Given the description of an element on the screen output the (x, y) to click on. 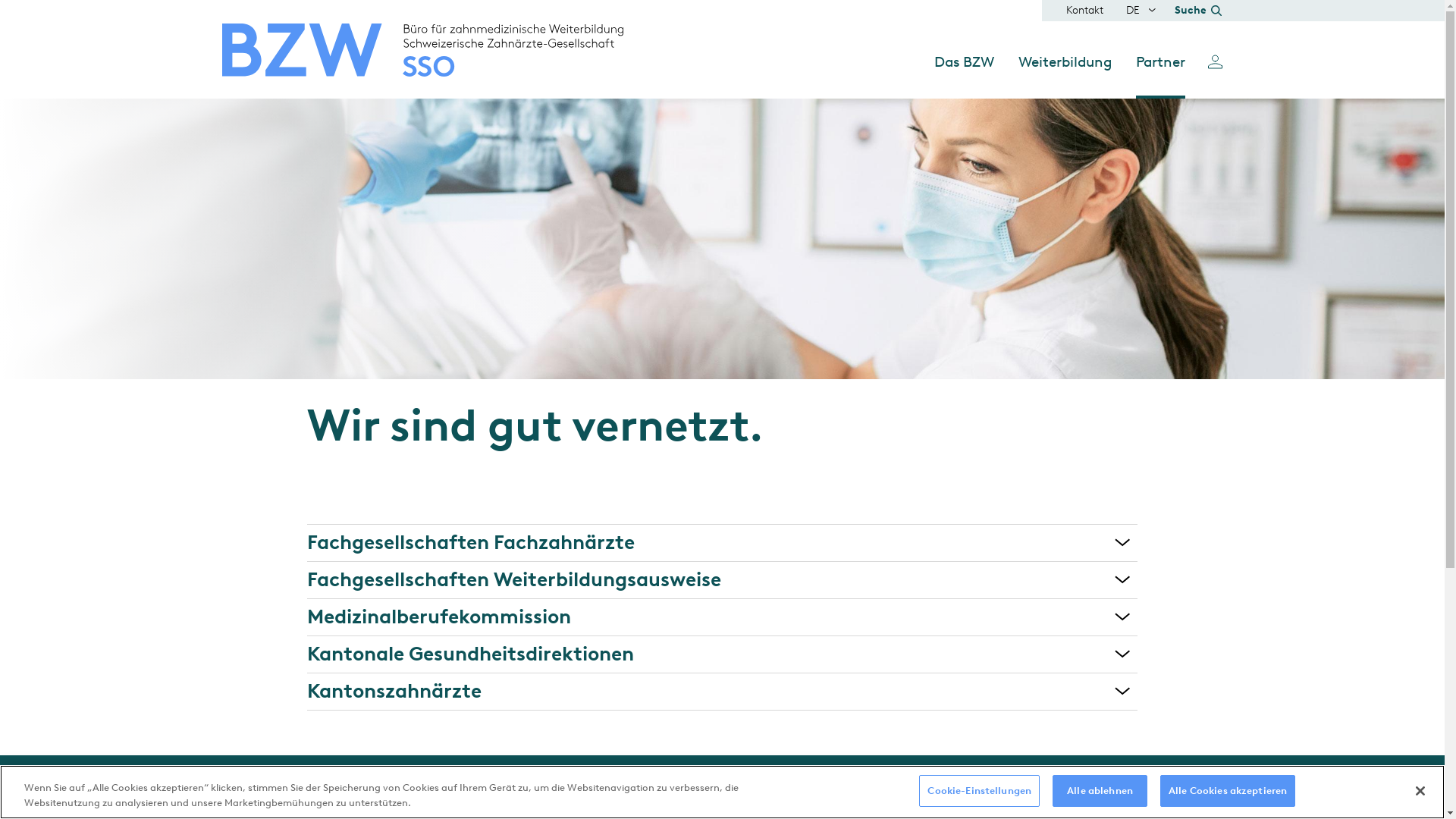
Cookie-Einstellungen Element type: text (979, 790)
Alle ablehnen Element type: text (1099, 790)
Anmelden Element type: text (1214, 61)
Suche Element type: text (1197, 9)
Das BZW Element type: text (964, 75)
Skip to main content Element type: text (0, 0)
DE Element type: text (1132, 9)
Kontakt Element type: text (1084, 9)
Alle Cookies akzeptieren Element type: text (1227, 790)
Apply Element type: text (947, 437)
Weiterbildung Element type: text (1063, 75)
Partner Element type: text (1160, 75)
